Given the description of an element on the screen output the (x, y) to click on. 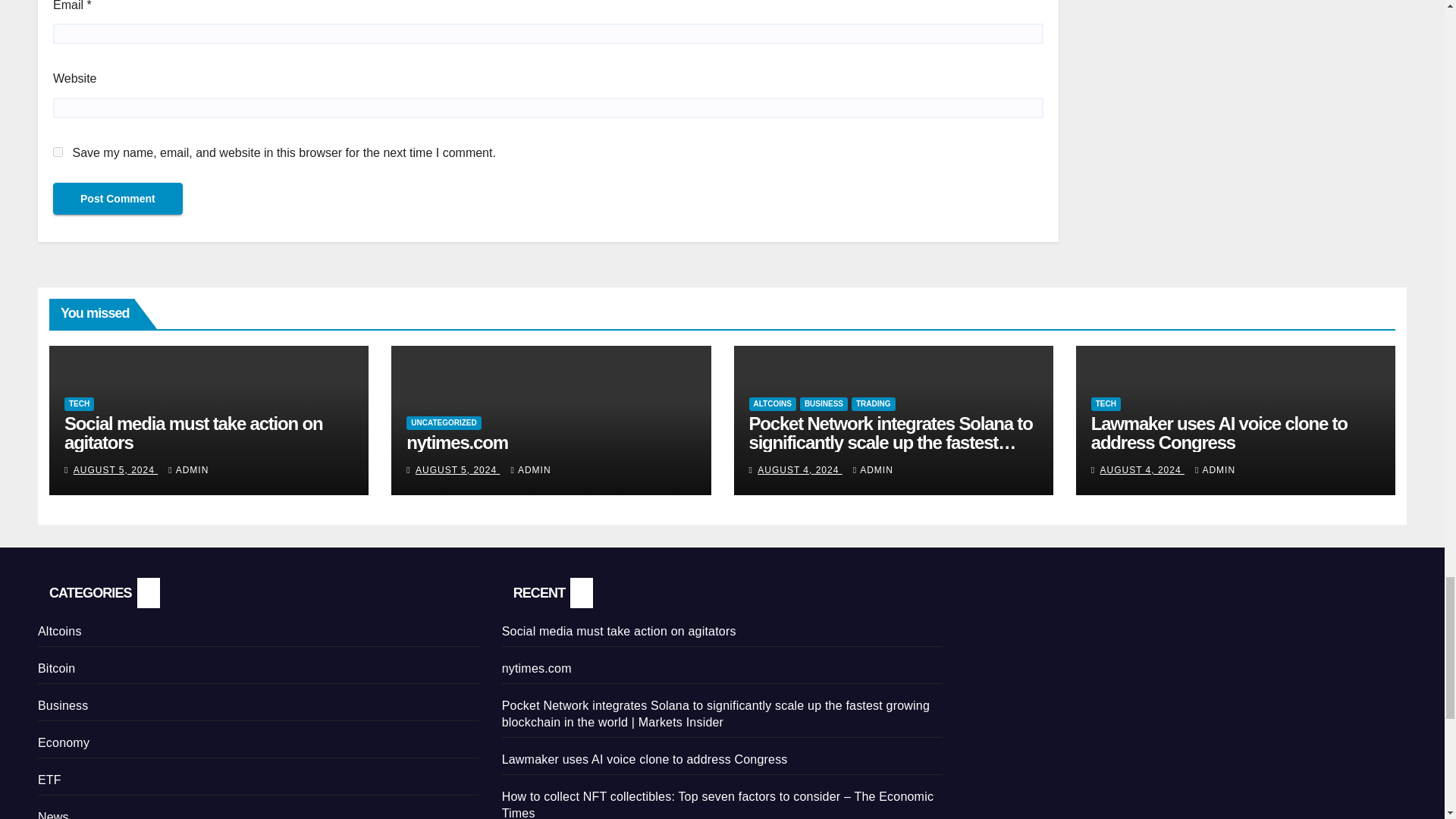
yes (57, 152)
Post Comment (117, 198)
